Given the description of an element on the screen output the (x, y) to click on. 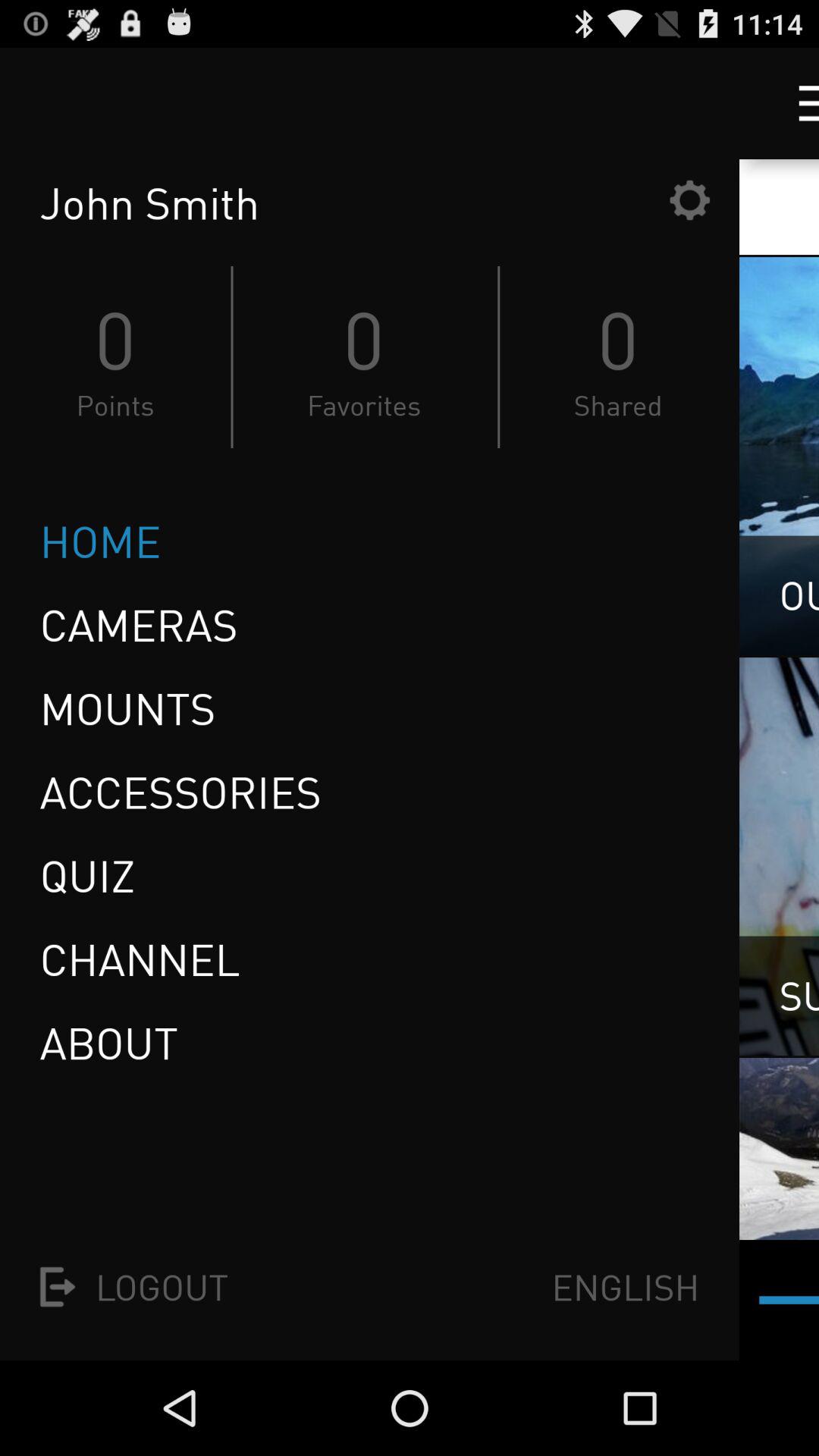
click the item next to the john smith item (689, 199)
